Given the description of an element on the screen output the (x, y) to click on. 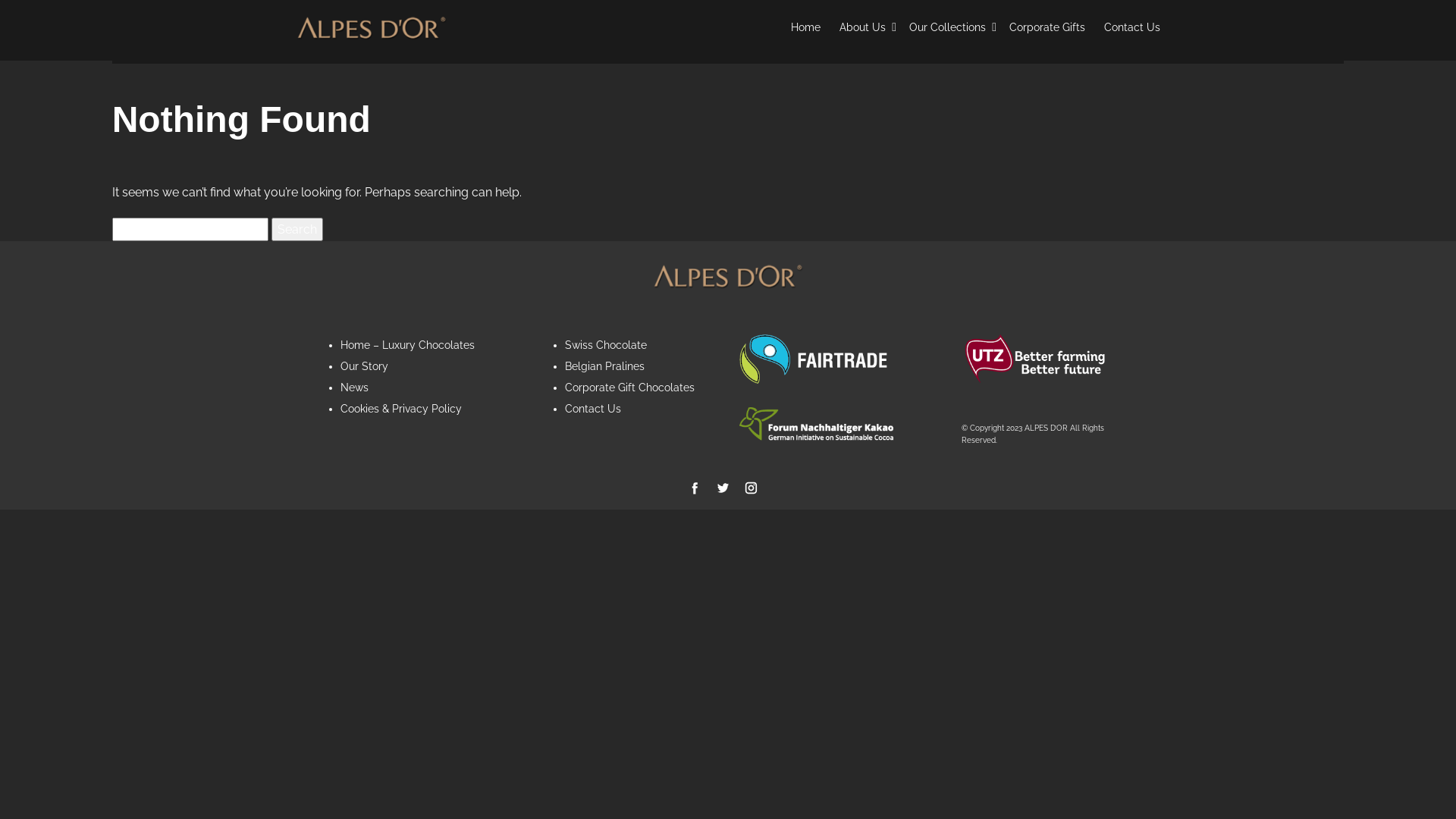
News Element type: text (354, 387)
Our Story Element type: text (364, 366)
Contact Us Element type: text (1132, 27)
About Us Element type: text (864, 27)
Our Collections Element type: text (949, 27)
Swiss Chocolate Element type: text (605, 344)
Home Element type: text (805, 27)
Corporate Gift Chocolates Element type: text (628, 387)
Cookies & Privacy Policy Element type: text (400, 408)
Belgian Pralines Element type: text (603, 366)
Contact Us Element type: text (592, 408)
Corporate Gifts Element type: text (1047, 27)
Search Element type: text (297, 229)
